Given the description of an element on the screen output the (x, y) to click on. 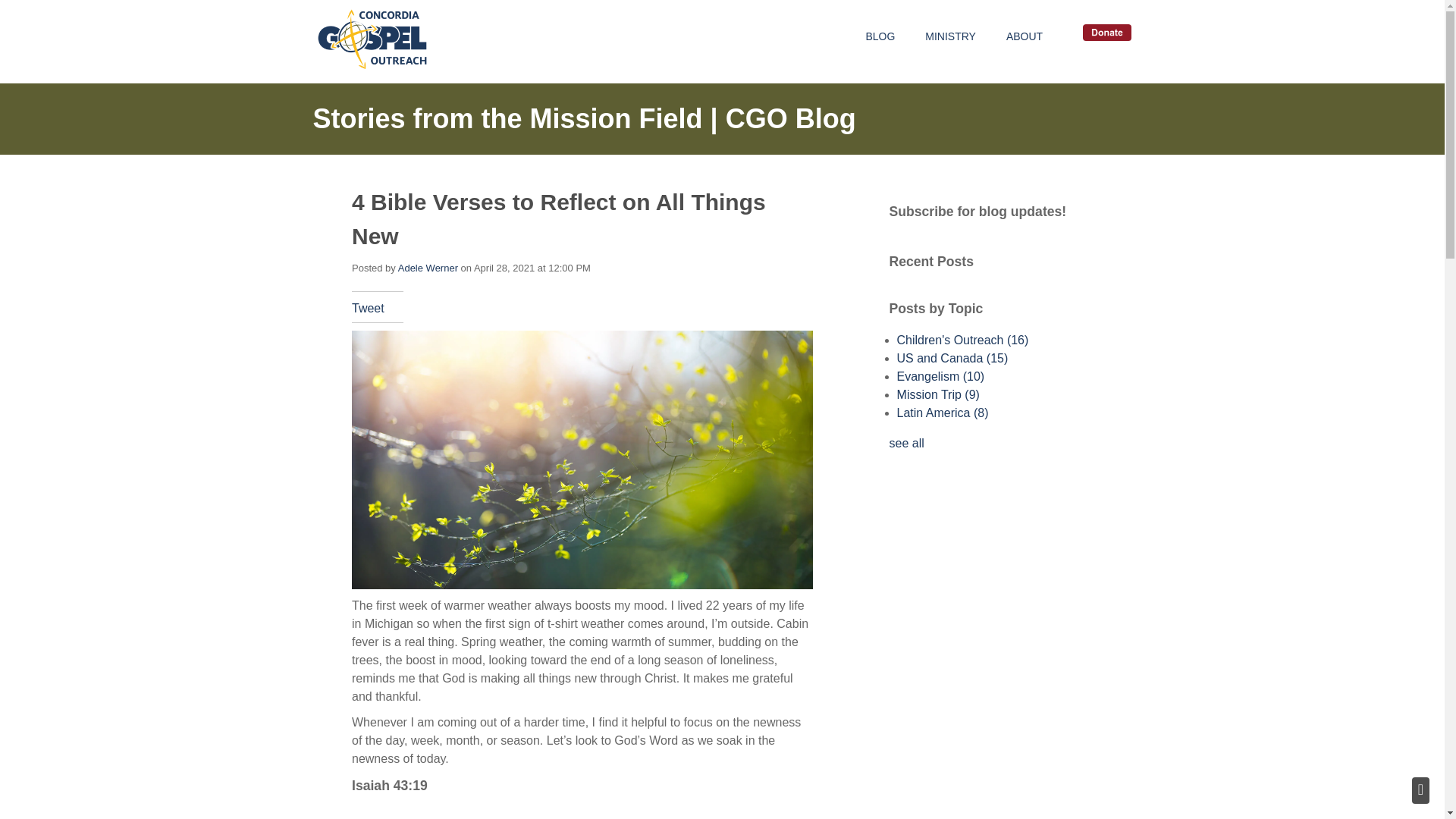
Adele Werner (427, 267)
Concordia Gospel Outreach (371, 39)
MINISTRY (950, 36)
ABOUT (1024, 36)
BLOG (879, 36)
Tweet (368, 308)
